Given the description of an element on the screen output the (x, y) to click on. 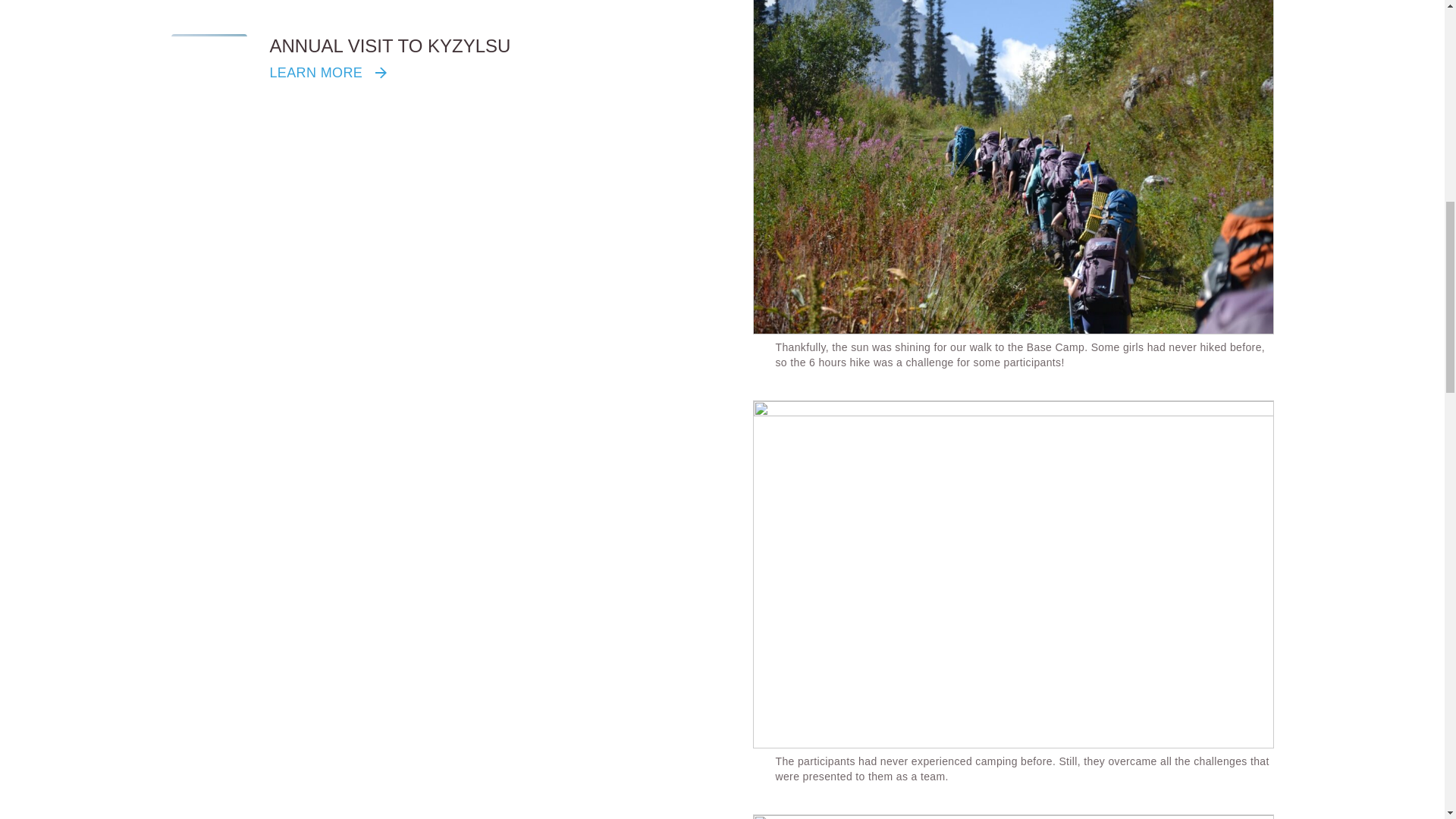
ANNUAL VISIT TO KYZYLSU (390, 46)
LEARN MORE (331, 72)
